Given the description of an element on the screen output the (x, y) to click on. 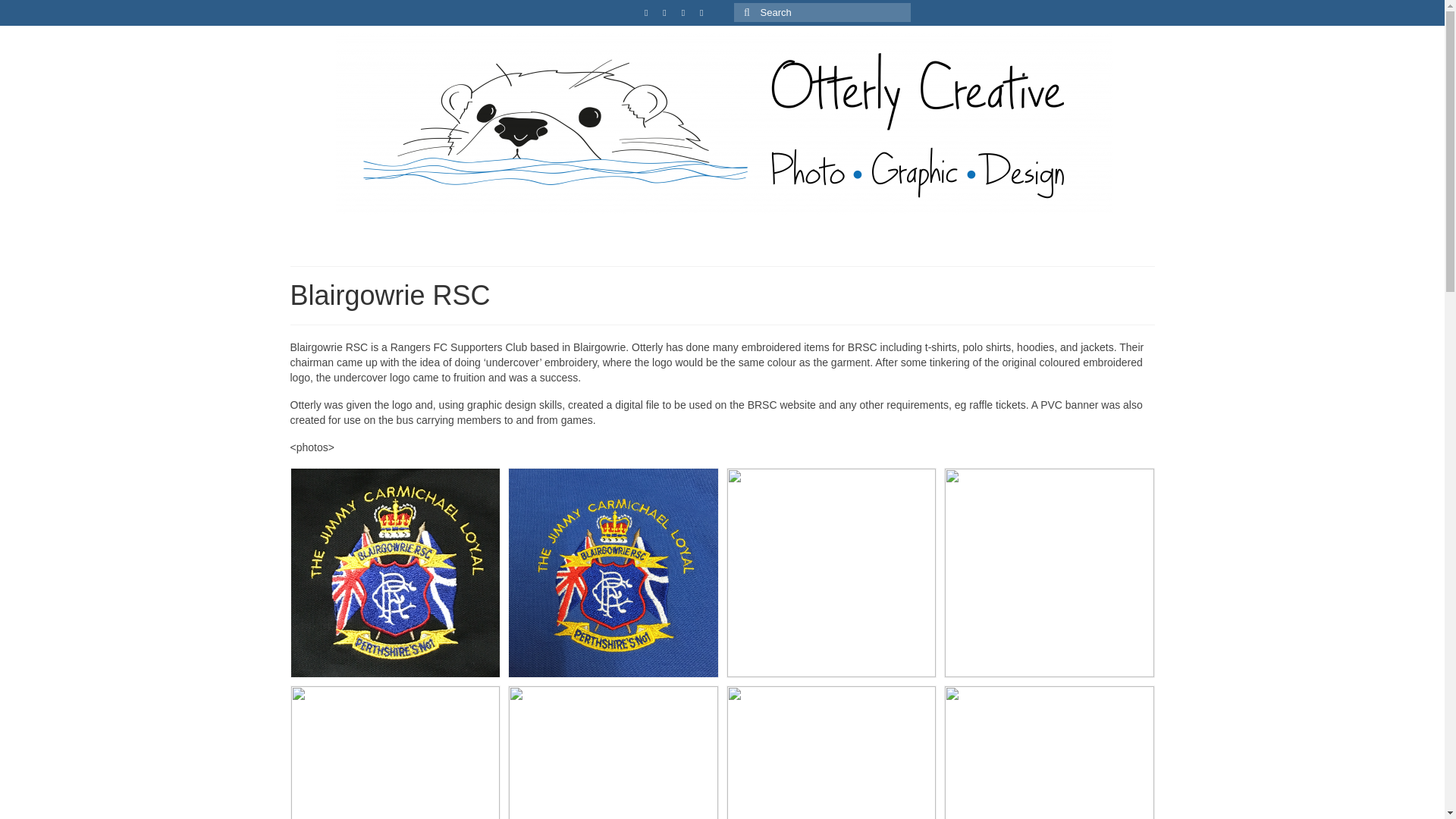
Embroidery (646, 238)
Photography (360, 238)
Vinyl (931, 238)
Personalised Items (1074, 238)
Graphic Design (503, 238)
Printing (788, 238)
